Given the description of an element on the screen output the (x, y) to click on. 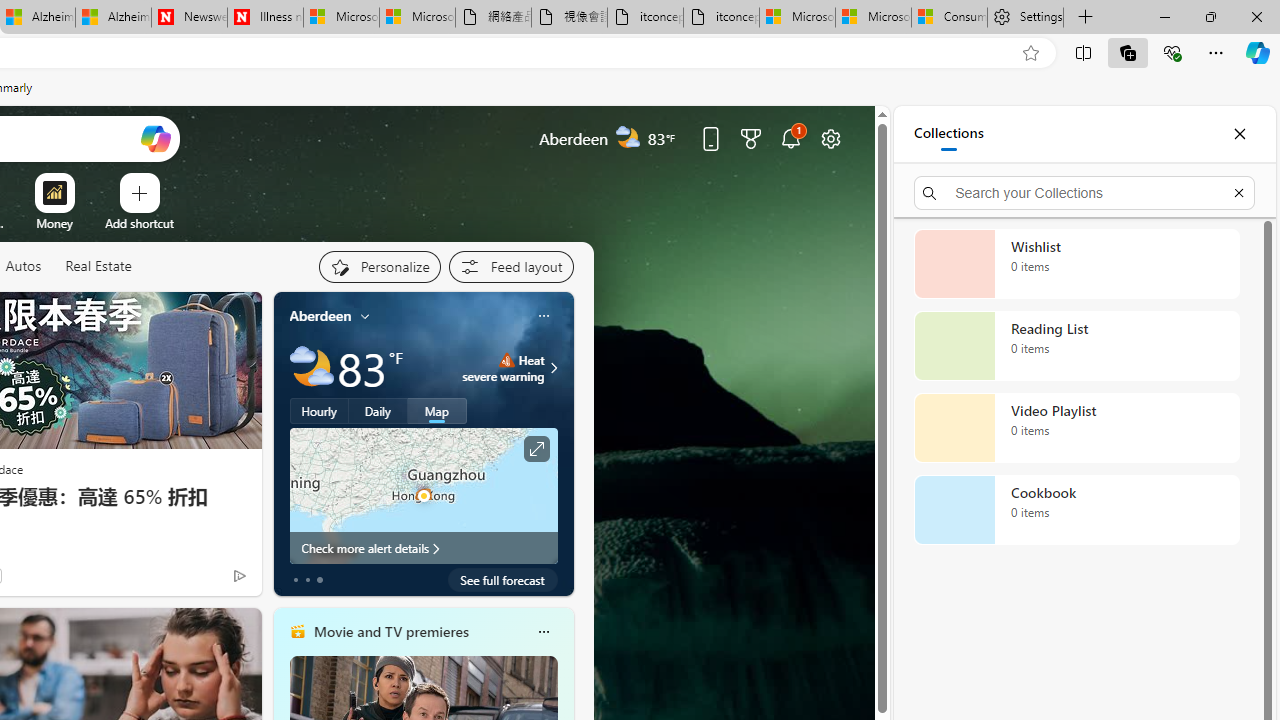
See full forecast (502, 579)
Map (437, 411)
Larger map  (423, 495)
